Given the description of an element on the screen output the (x, y) to click on. 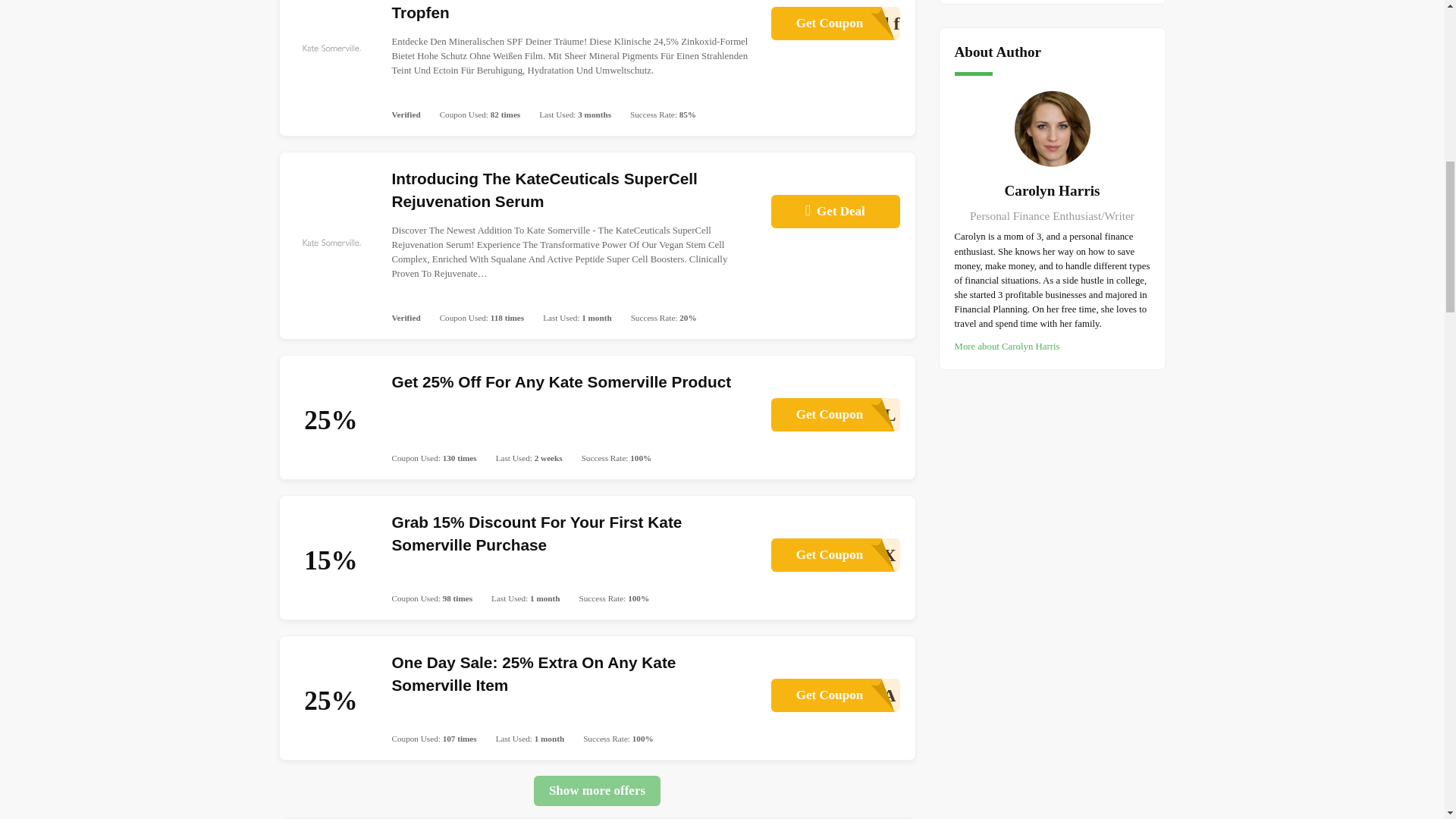
Show more offers (834, 414)
Read more (597, 790)
Get Deal (834, 23)
